Given the description of an element on the screen output the (x, y) to click on. 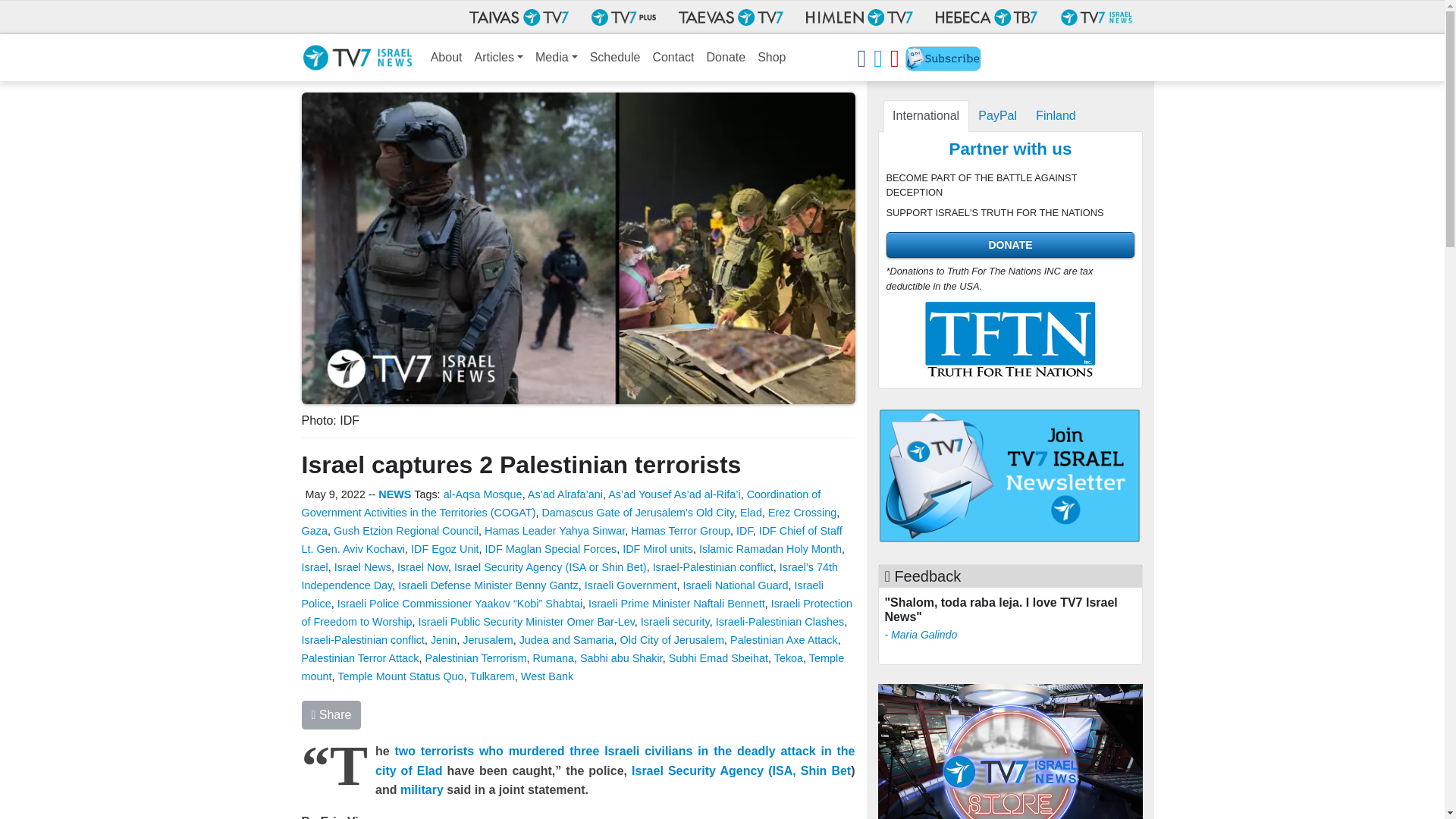
IDF Maglan Special Forces (550, 548)
Schedule (614, 57)
IDF Egoz Unit (444, 548)
al-Aqsa Mosque (483, 494)
IDF Chief of Staff Lt. Gen. Aviv Kochavi (572, 539)
Erez Crossing (801, 512)
Damascus Gate of Jerusalem's Old City (637, 512)
Hamas Leader Yahya Sinwar (554, 530)
Donate (726, 57)
Newsletter (943, 60)
IDF (744, 530)
Hamas Terror Group (680, 530)
Contact (673, 57)
Gush Etzion Regional Council (406, 530)
Articles (498, 57)
